Given the description of an element on the screen output the (x, y) to click on. 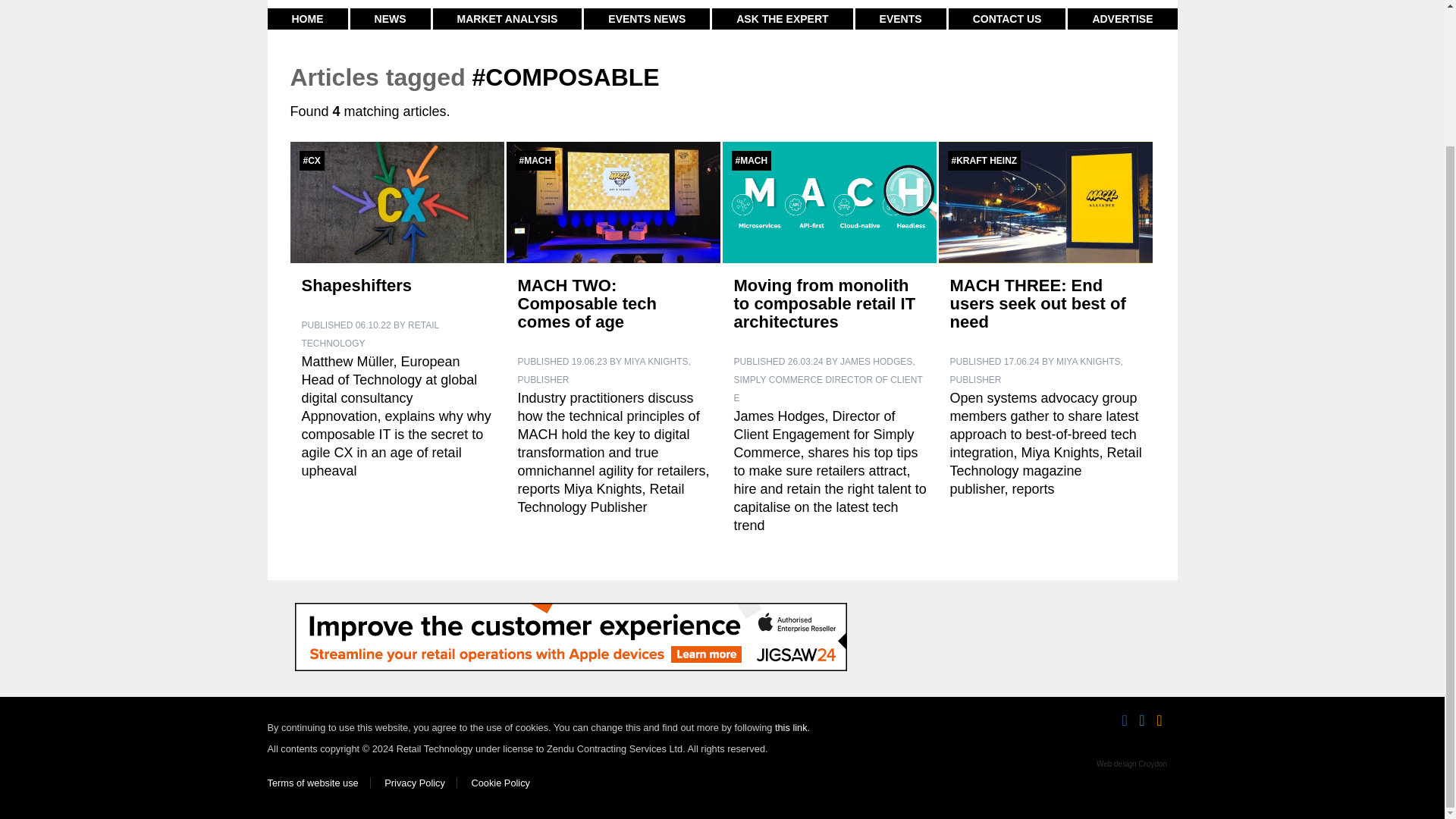
EVENTS NEWS (646, 18)
NEWS (390, 18)
MARKET ANALYSIS (507, 18)
EVENTS (901, 18)
HOME (306, 18)
ADVERTISE (1121, 18)
ASK THE EXPERT (781, 18)
CONTACT US (1007, 18)
